Given the description of an element on the screen output the (x, y) to click on. 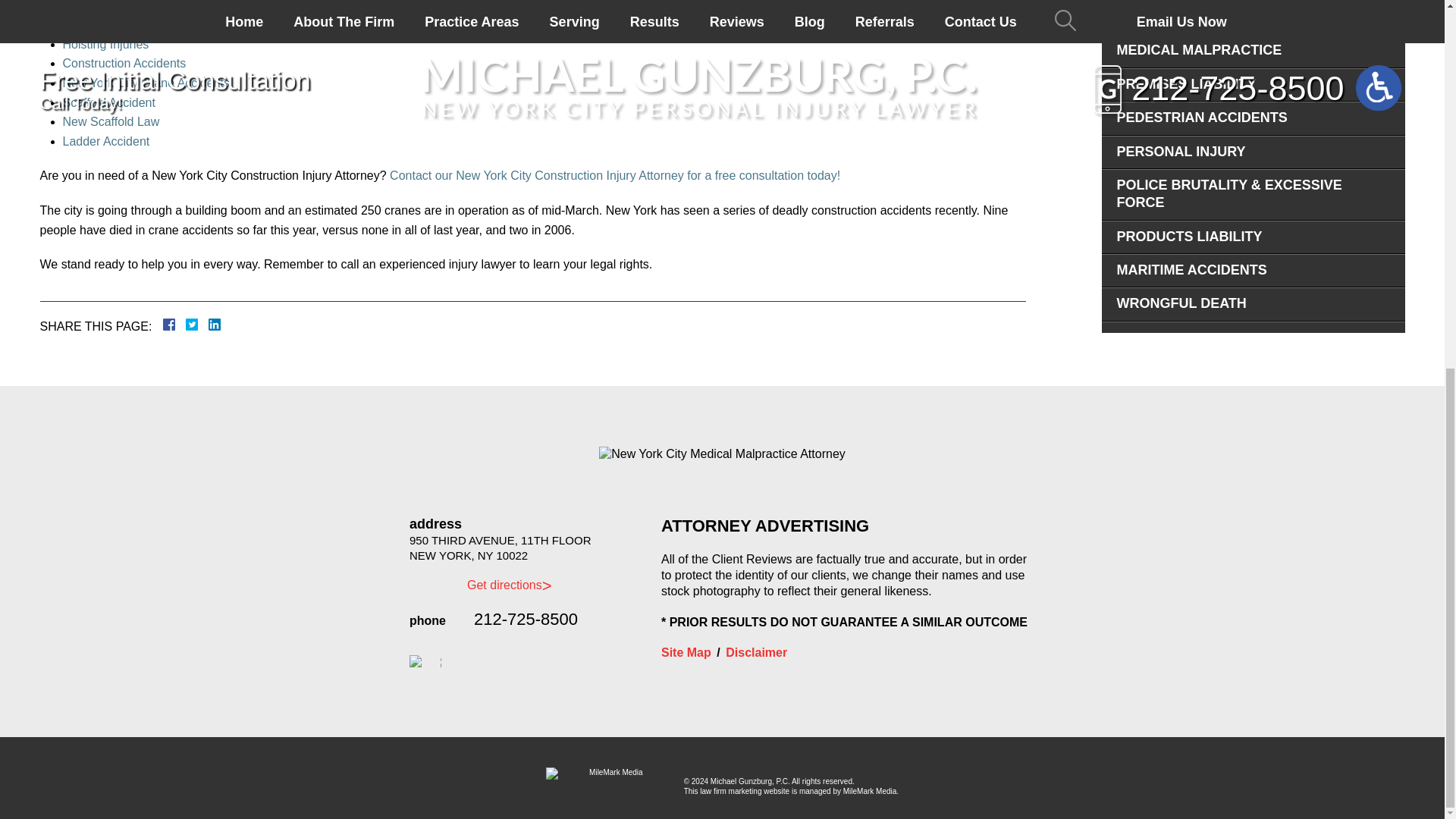
LinkedIn (208, 324)
Twitter (197, 324)
Facebook (187, 324)
